Given the description of an element on the screen output the (x, y) to click on. 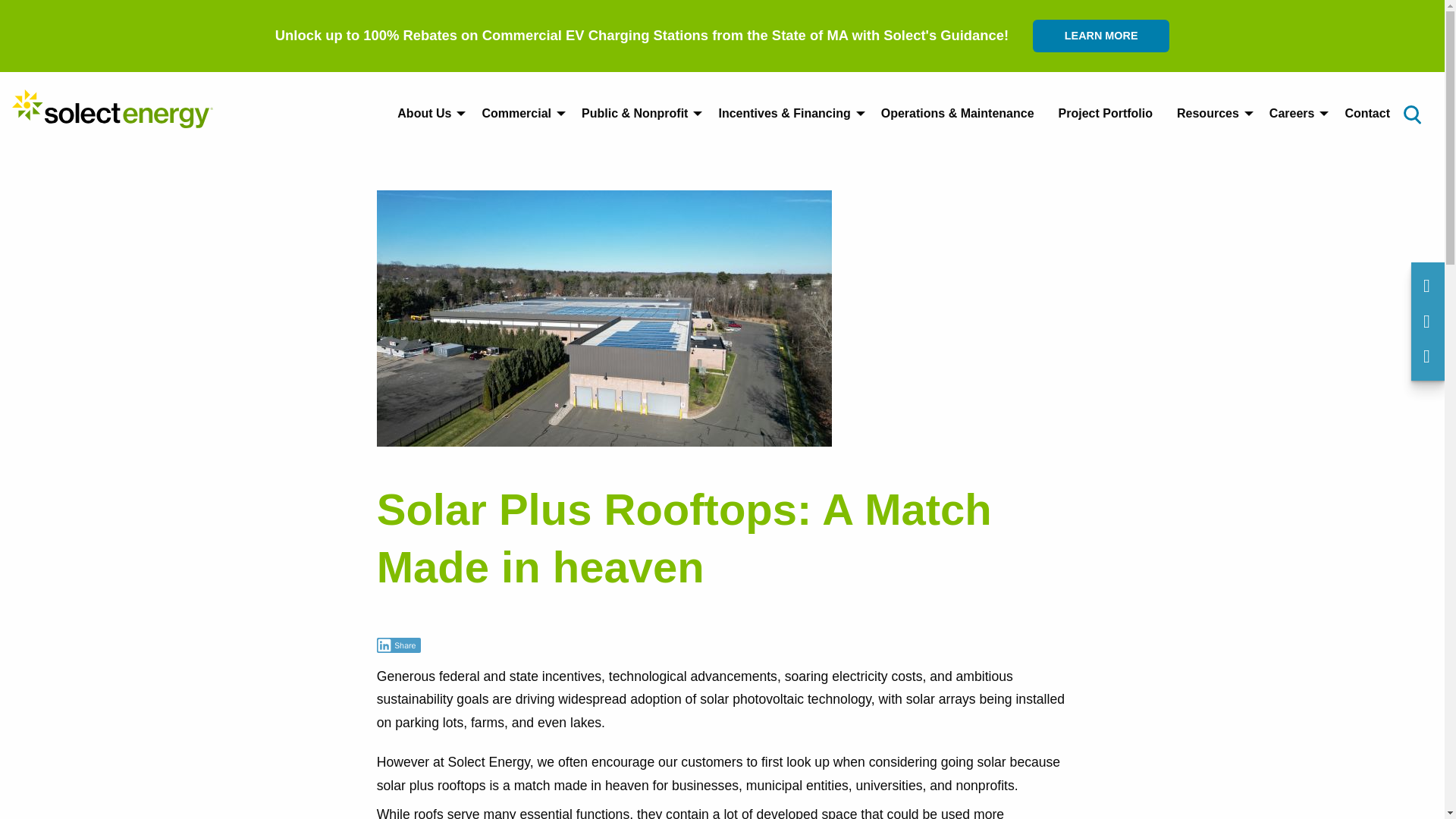
Commercial (518, 113)
About Us (426, 113)
LEARN MORE (1100, 36)
